Given the description of an element on the screen output the (x, y) to click on. 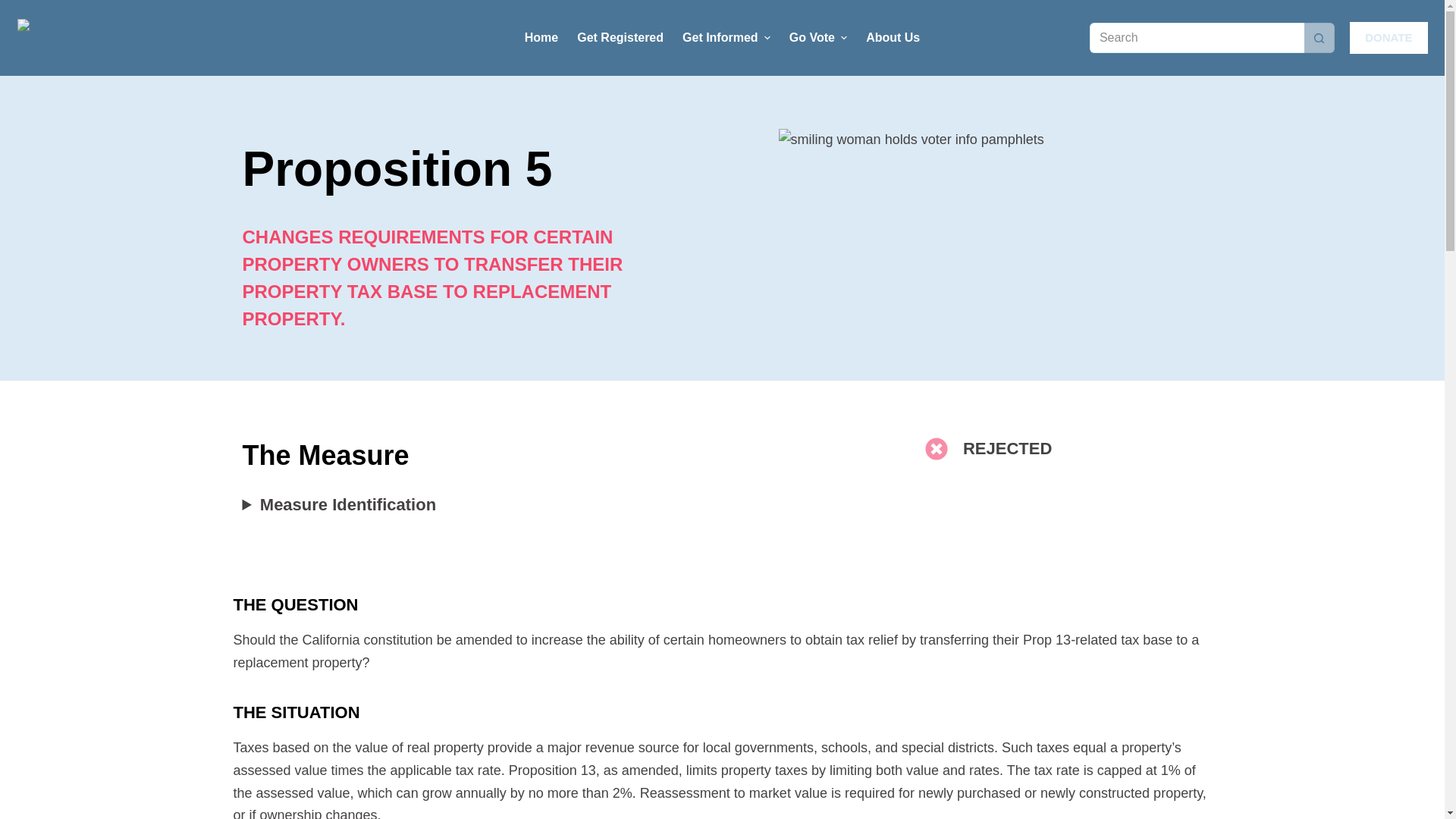
Search for... (1196, 37)
ALEBRON (278, 123)
Skip to content (15, 7)
Get Registered (619, 38)
Posts by alebron (278, 123)
Go Vote (817, 38)
DONATE (1387, 38)
MEASURE (445, 123)
Get Informed (726, 38)
Prop 5: 2018 (721, 72)
